Given the description of an element on the screen output the (x, y) to click on. 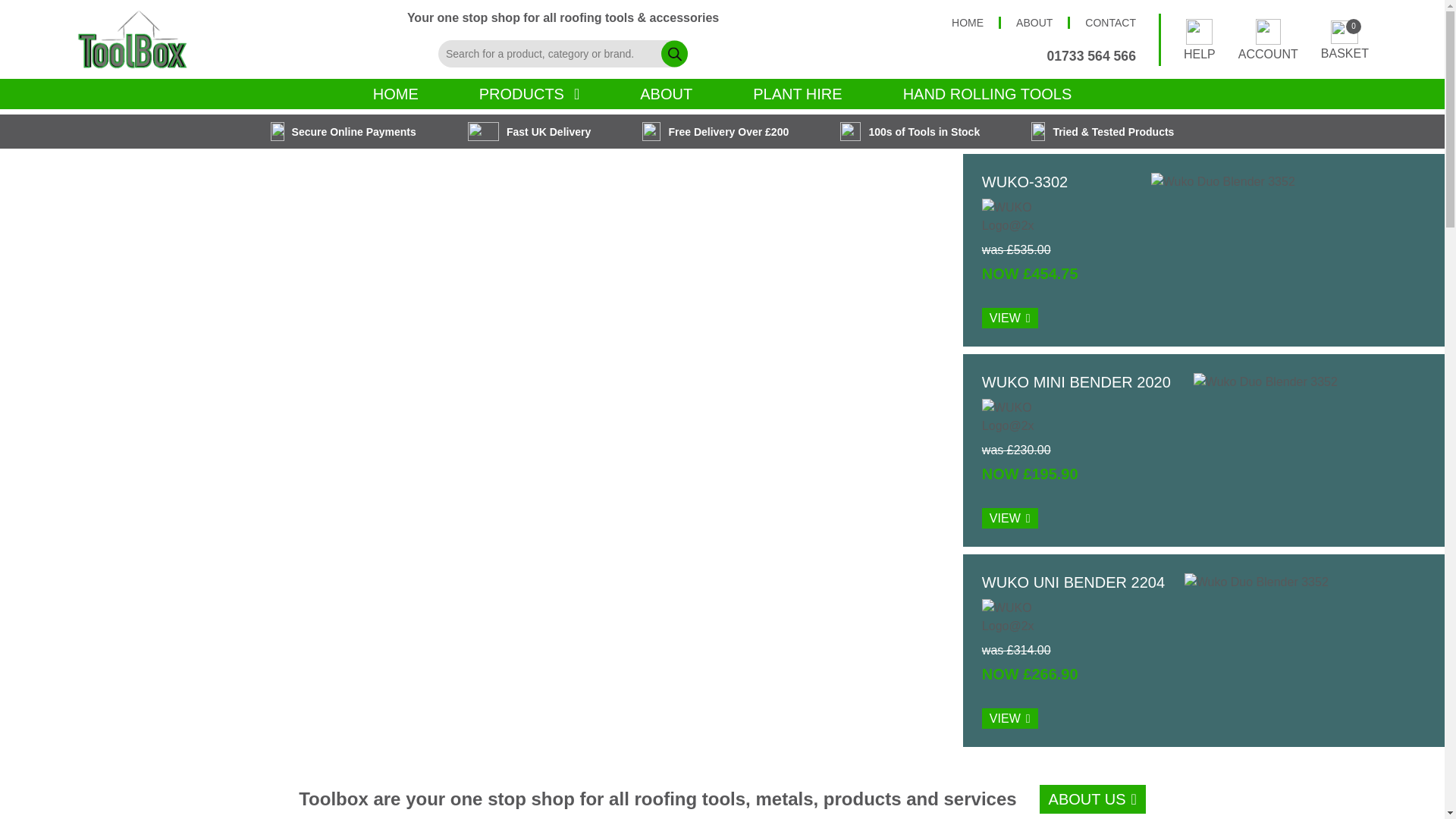
PLANT HIRE (797, 93)
HOME (968, 22)
CONTACT (1110, 22)
01733 564 566 (1090, 55)
ABOUT (1344, 38)
HAND ROLLING TOOLS (1035, 22)
PRODUCTS (987, 93)
ACCOUNT (529, 93)
HOME (1268, 38)
